Given the description of an element on the screen output the (x, y) to click on. 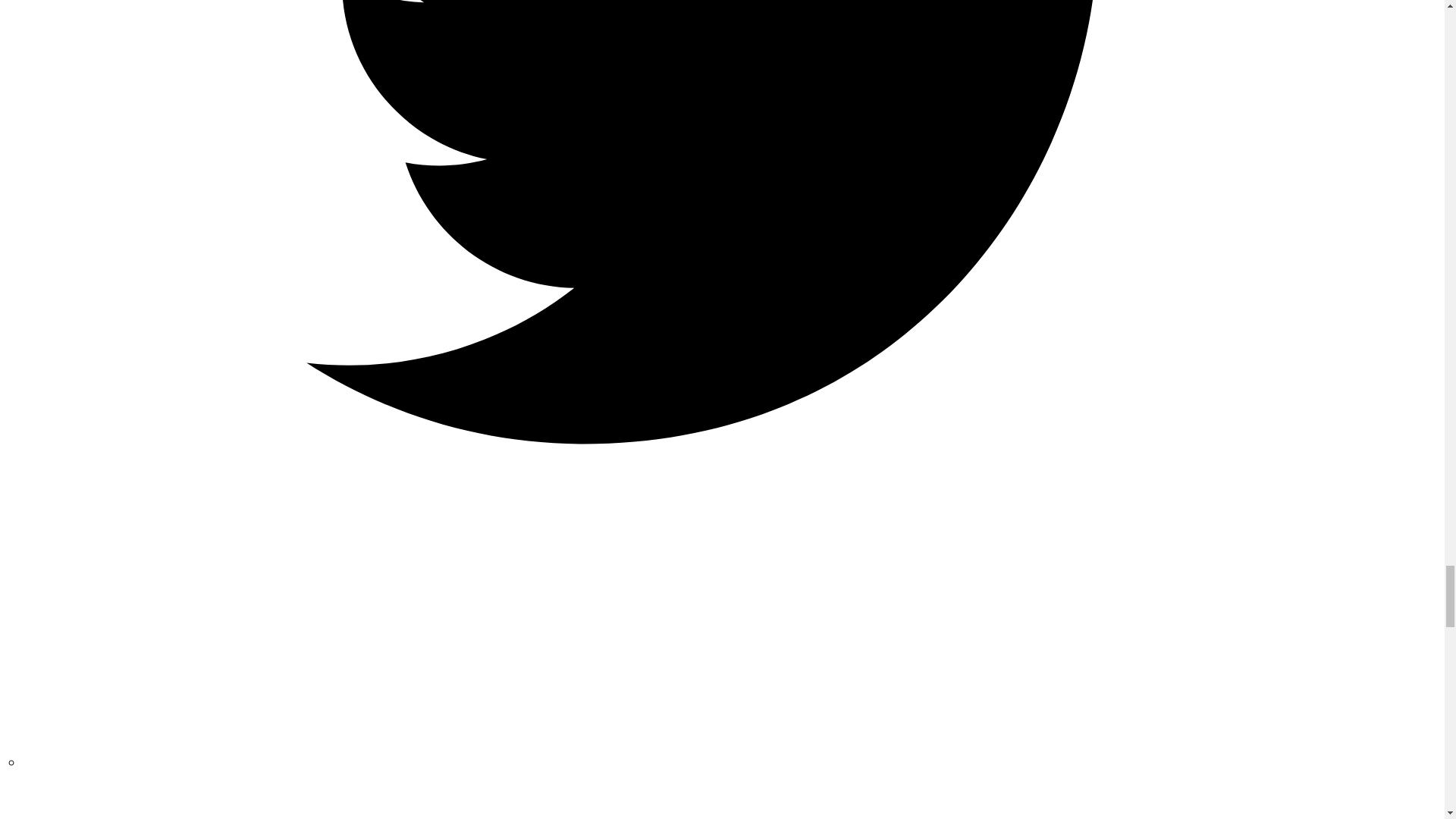
Twitter (733, 761)
